Given the description of an element on the screen output the (x, y) to click on. 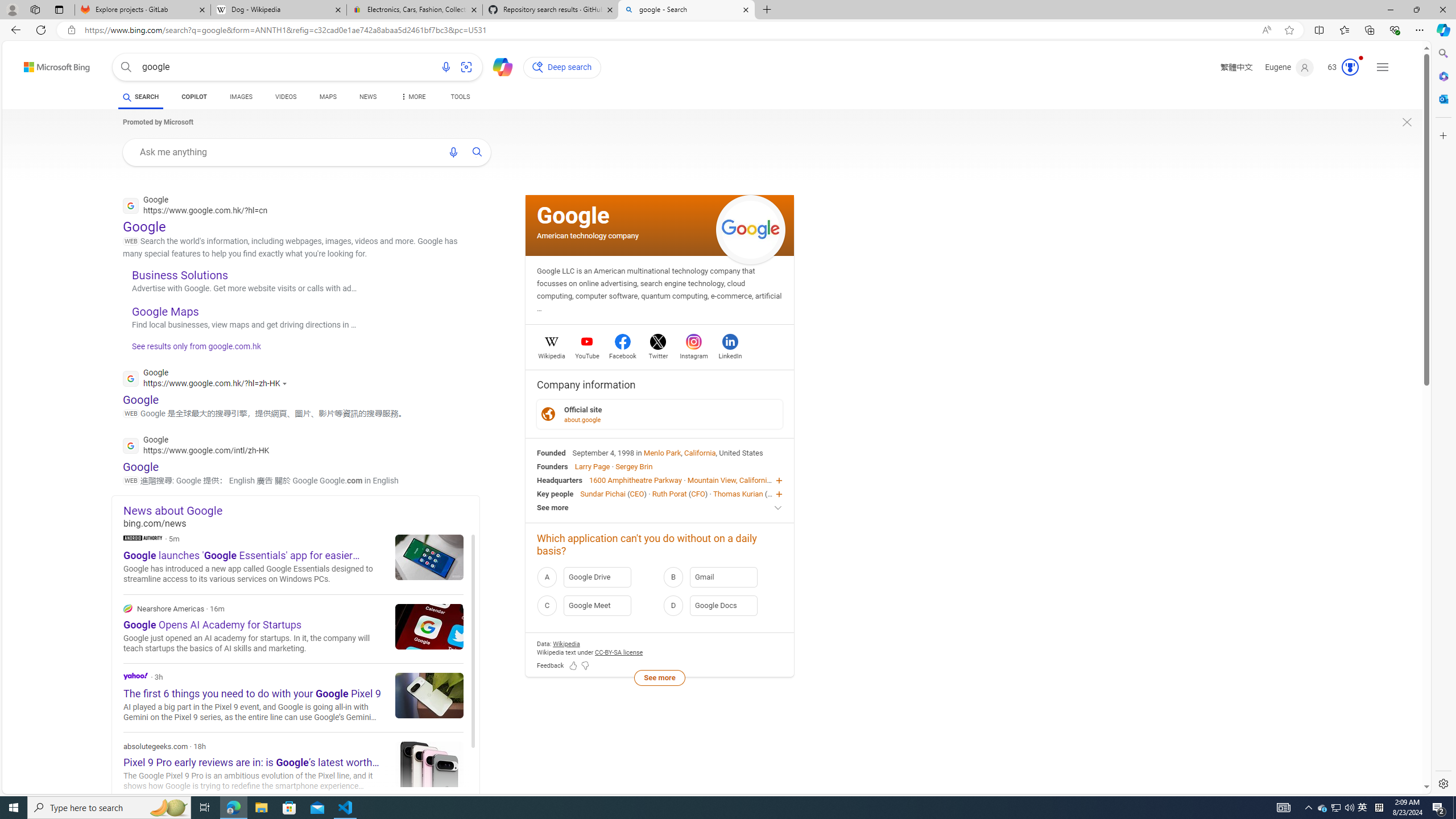
Android Authority (142, 537)
AutomationID: serp_medal_svg (1349, 67)
American technology company (588, 234)
Feedback Like (573, 665)
SEARCH (140, 96)
Google (573, 215)
bing.com/news (301, 522)
Dog - Wikipedia (277, 9)
Business Solutions (180, 274)
